Given the description of an element on the screen output the (x, y) to click on. 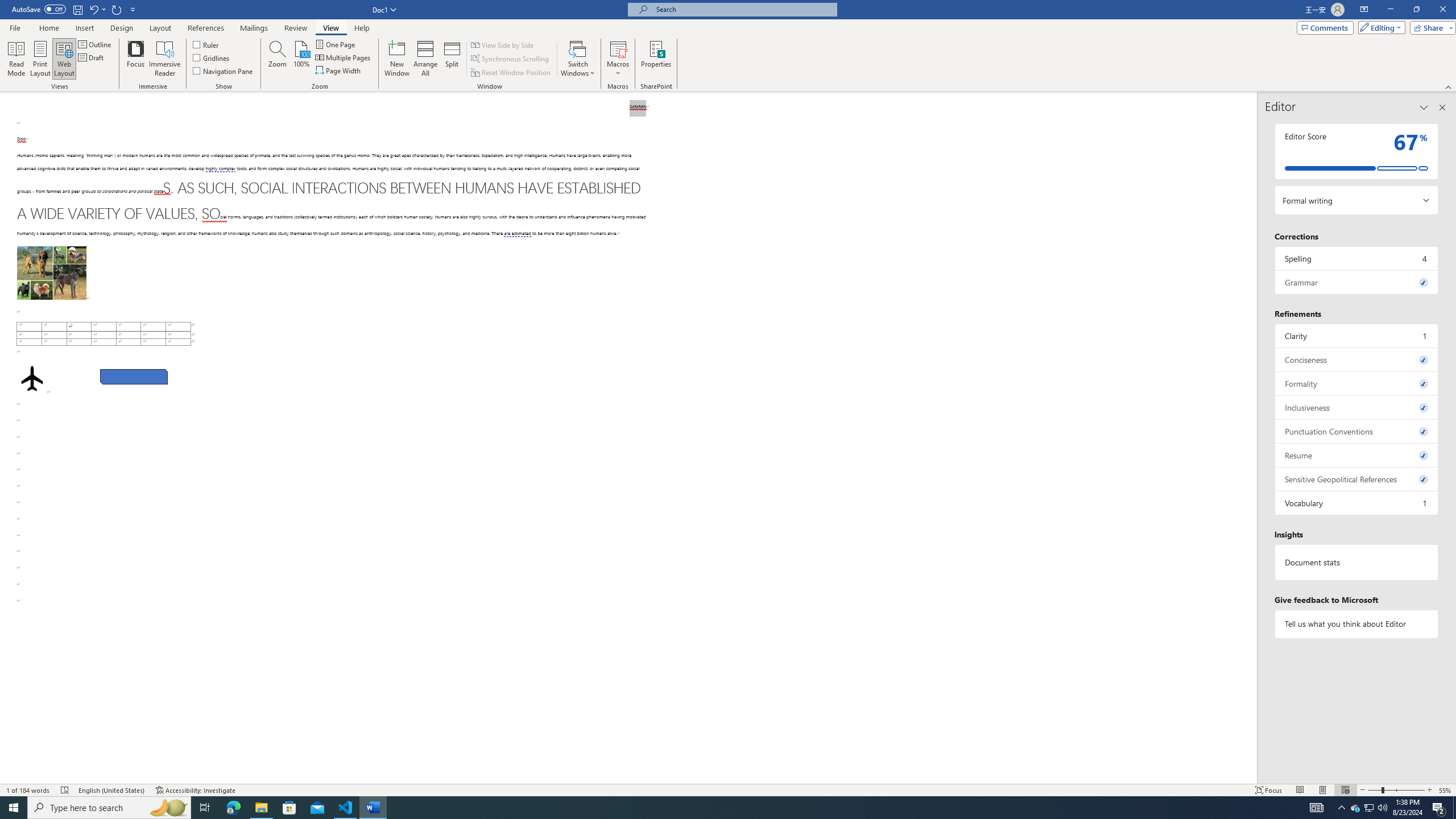
New Window (396, 58)
Word Count 1 of 184 words (28, 790)
Formality, 0 issues. Press space or enter to review items. (1356, 383)
View Side by Side (502, 44)
Clarity, 1 issue. Press space or enter to review items. (1356, 335)
Repeat Paragraph Alignment (117, 9)
View Macros (617, 48)
